Given the description of an element on the screen output the (x, y) to click on. 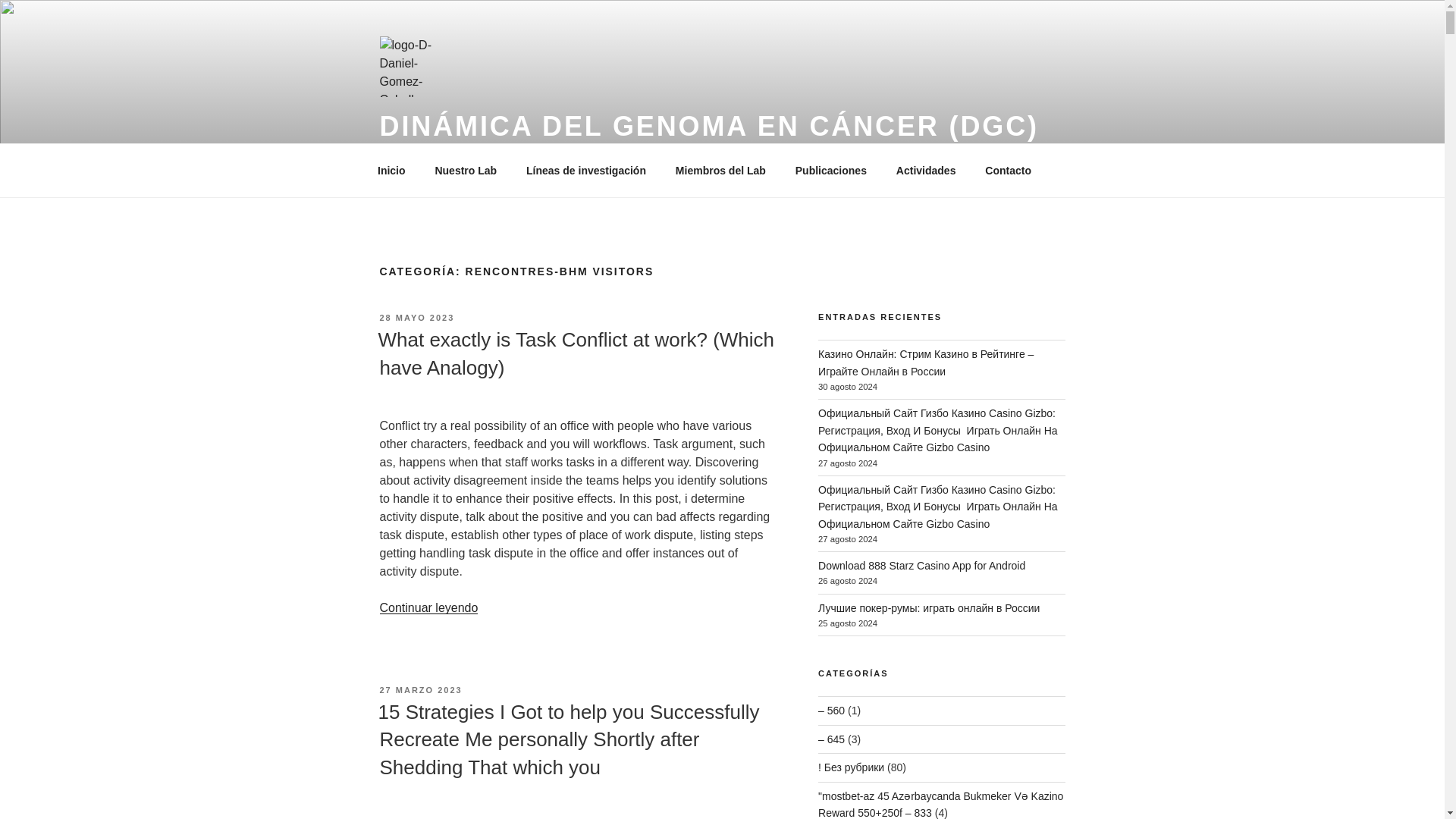
Actividades (925, 170)
Contacto (1008, 170)
27 MARZO 2023 (419, 689)
28 MAYO 2023 (416, 317)
Miembros del Lab (720, 170)
Publicaciones (830, 170)
Nuestro Lab (466, 170)
Download 888 Starz Casino App for Android (921, 565)
Inicio (391, 170)
